Given the description of an element on the screen output the (x, y) to click on. 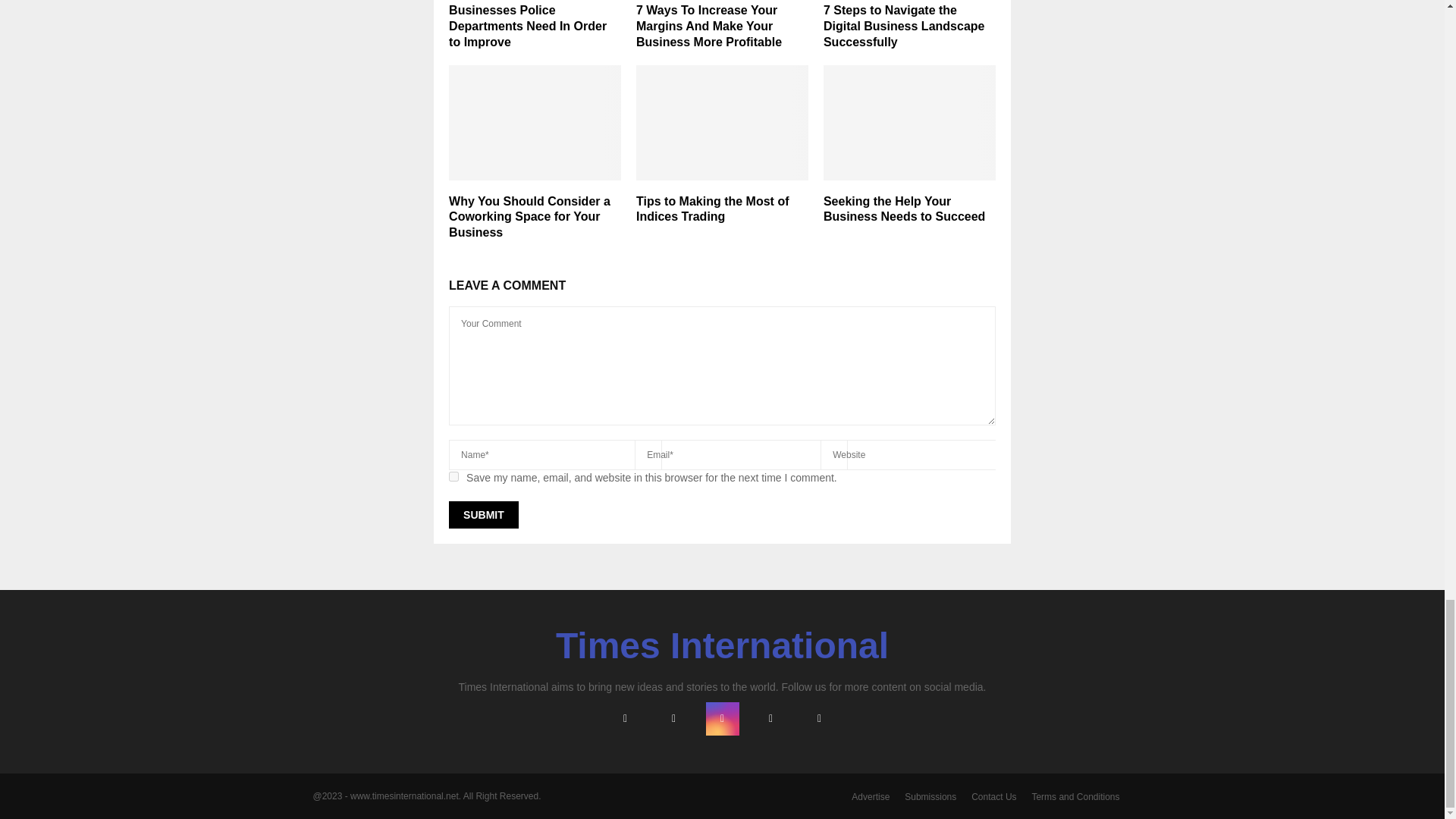
Submit (483, 514)
yes (453, 476)
